Given the description of an element on the screen output the (x, y) to click on. 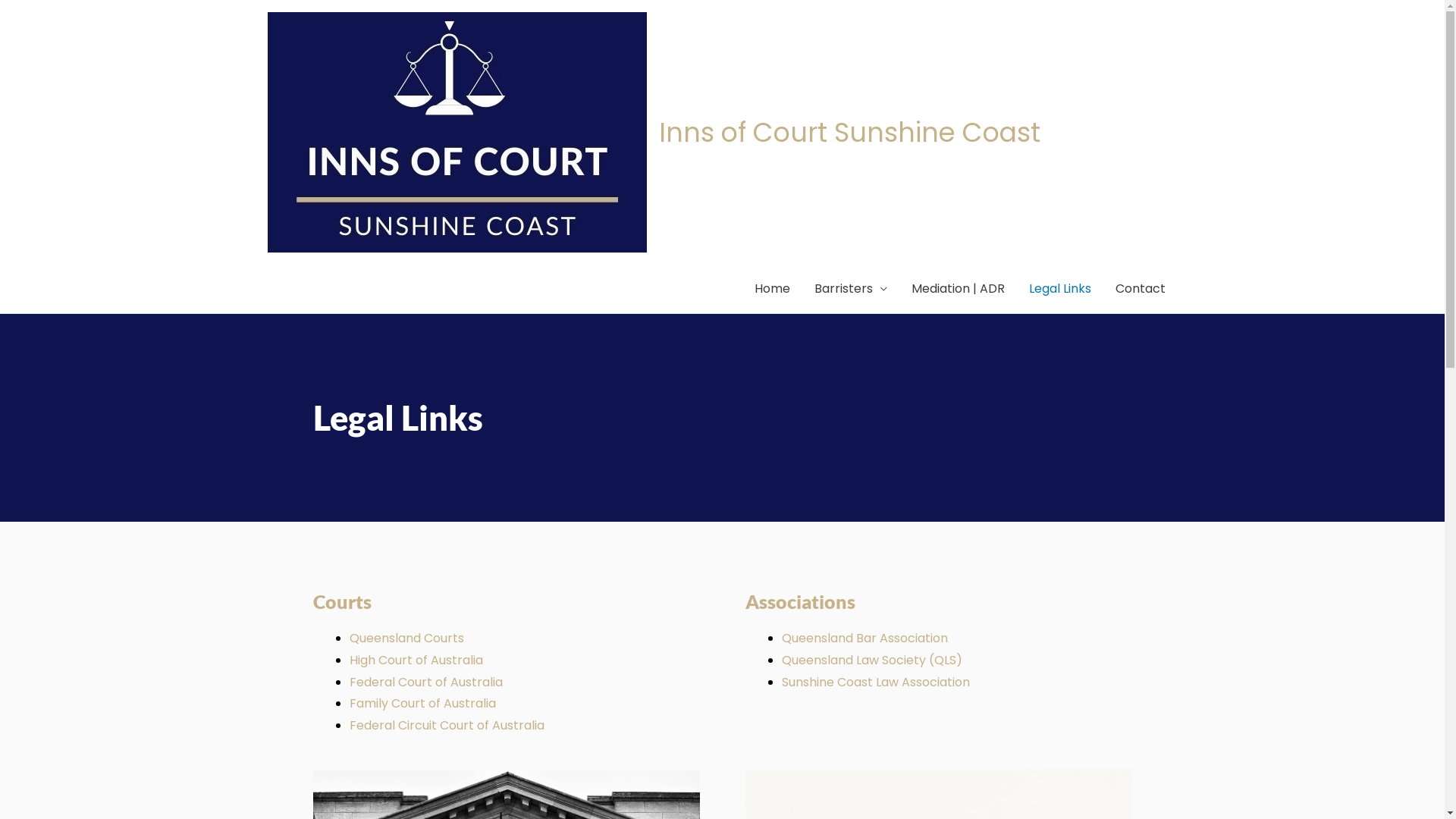
Federal Court of Australia Element type: text (425, 681)
Queensland Law Society (QLS) Element type: text (871, 659)
Contact Element type: text (1139, 288)
Legal Links Element type: text (1059, 288)
High Court of Australia Element type: text (415, 659)
Barristers Element type: text (850, 288)
Inns of Court Sunshine Coast Element type: text (848, 131)
Family Court of Australia Element type: text (421, 703)
Queensland Courts Element type: text (405, 637)
Queensland Bar Association Element type: text (864, 637)
Mediation | ADR Element type: text (957, 288)
Sunshine Coast Law Association Element type: text (875, 681)
Federal Circuit Court of Australia Element type: text (445, 725)
Home Element type: text (771, 288)
